Given the description of an element on the screen output the (x, y) to click on. 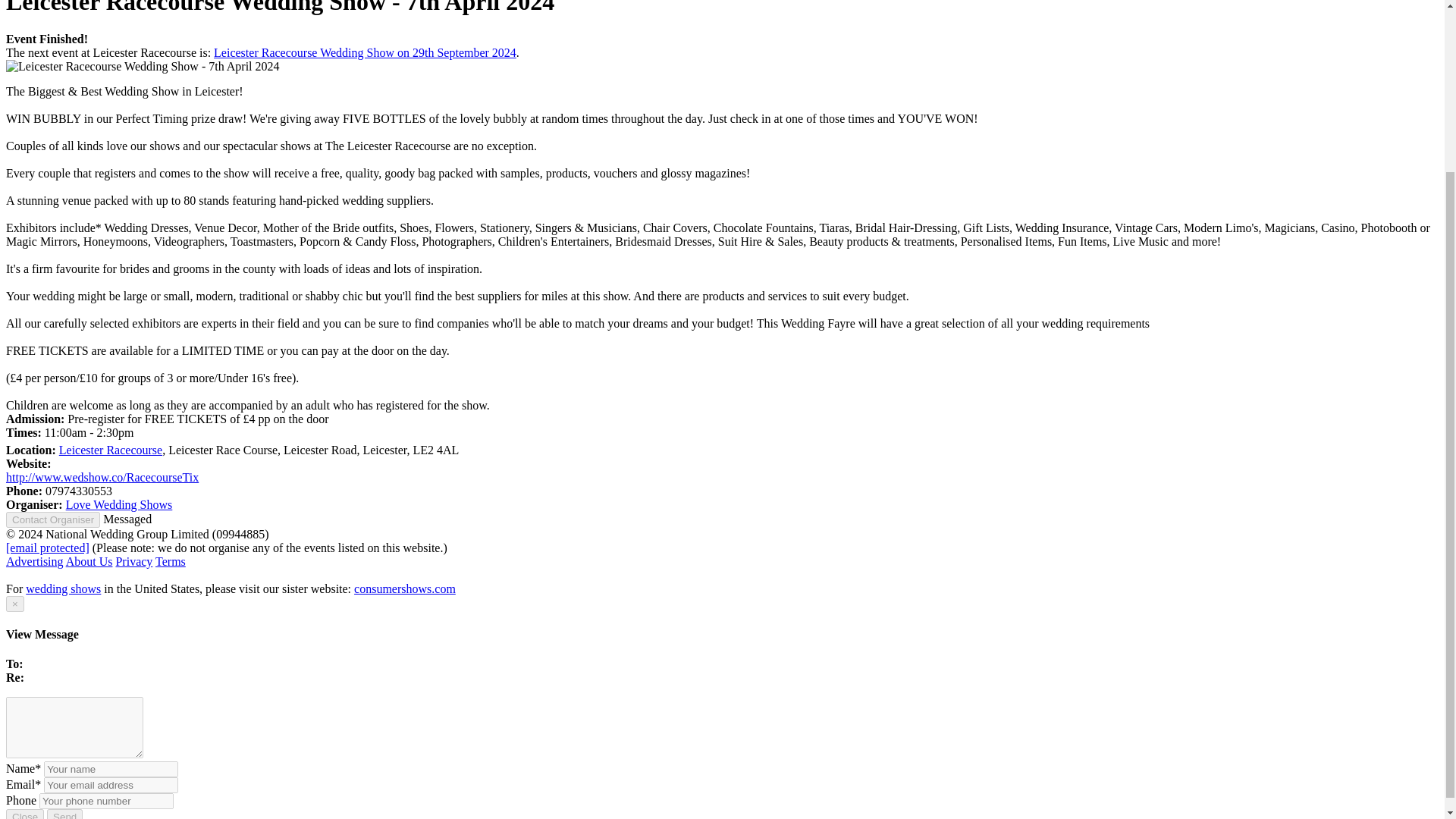
Messaged (127, 518)
wedding shows (63, 588)
Leicester Racecourse Wedding Show - 7th April 2024 (142, 66)
consumershows.com (404, 588)
About Us (89, 561)
Advertising (34, 561)
Awaiting Response (127, 518)
Privacy (133, 561)
Love Wedding Shows (119, 504)
Terms (170, 561)
Leicester Racecourse Wedding Show on 29th September 2024 (365, 51)
Contact Organiser (52, 519)
Leicester Racecourse (110, 449)
Consumer Shows (404, 588)
Wedding Shows (63, 588)
